Given the description of an element on the screen output the (x, y) to click on. 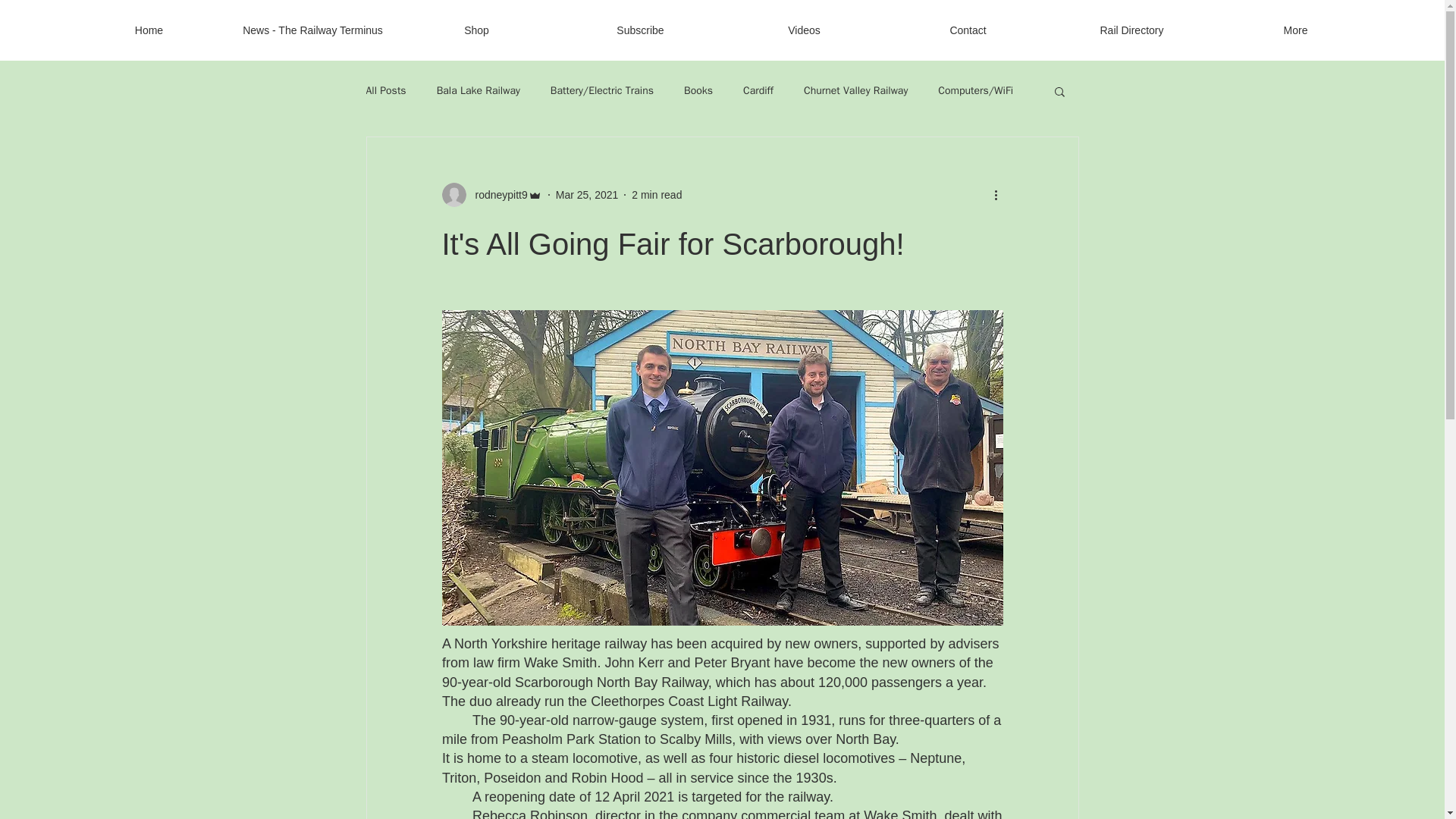
Books (698, 90)
Shop (475, 30)
Videos (803, 30)
News - The Railway Terminus (312, 30)
All Posts (385, 90)
Home (148, 30)
Rail Directory (1130, 30)
Cardiff (757, 90)
Churnet Valley Railway (855, 90)
Contact (967, 30)
